Given the description of an element on the screen output the (x, y) to click on. 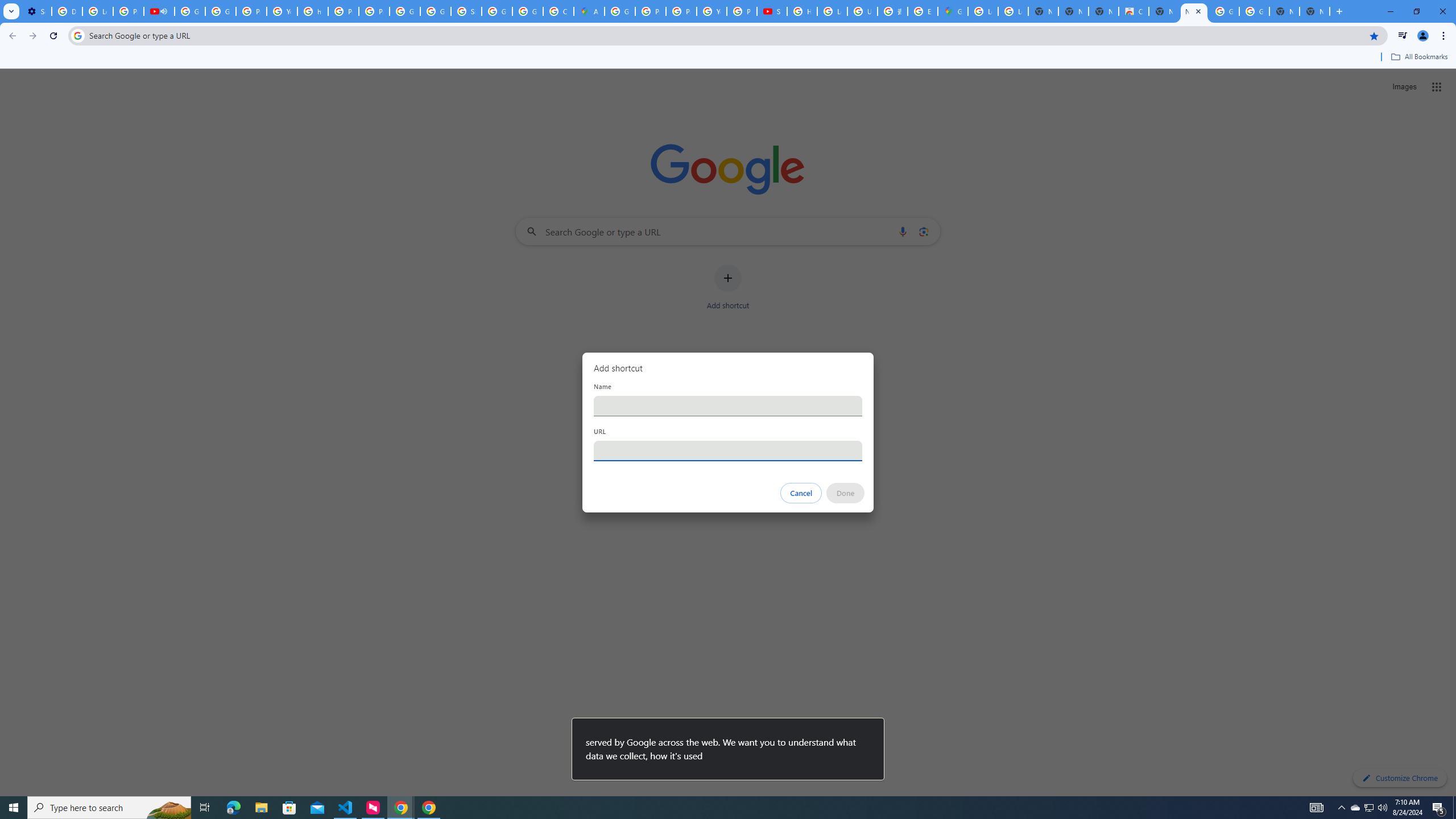
YouTube (711, 11)
Google Images (1254, 11)
Delete photos & videos - Computer - Google Photos Help (66, 11)
Google Maps (952, 11)
Privacy Help Center - Policies Help (343, 11)
Bookmarks (728, 58)
Explore new street-level details - Google Maps Help (922, 11)
Control your music, videos, and more (1402, 35)
Privacy Help Center - Policies Help (650, 11)
